Given the description of an element on the screen output the (x, y) to click on. 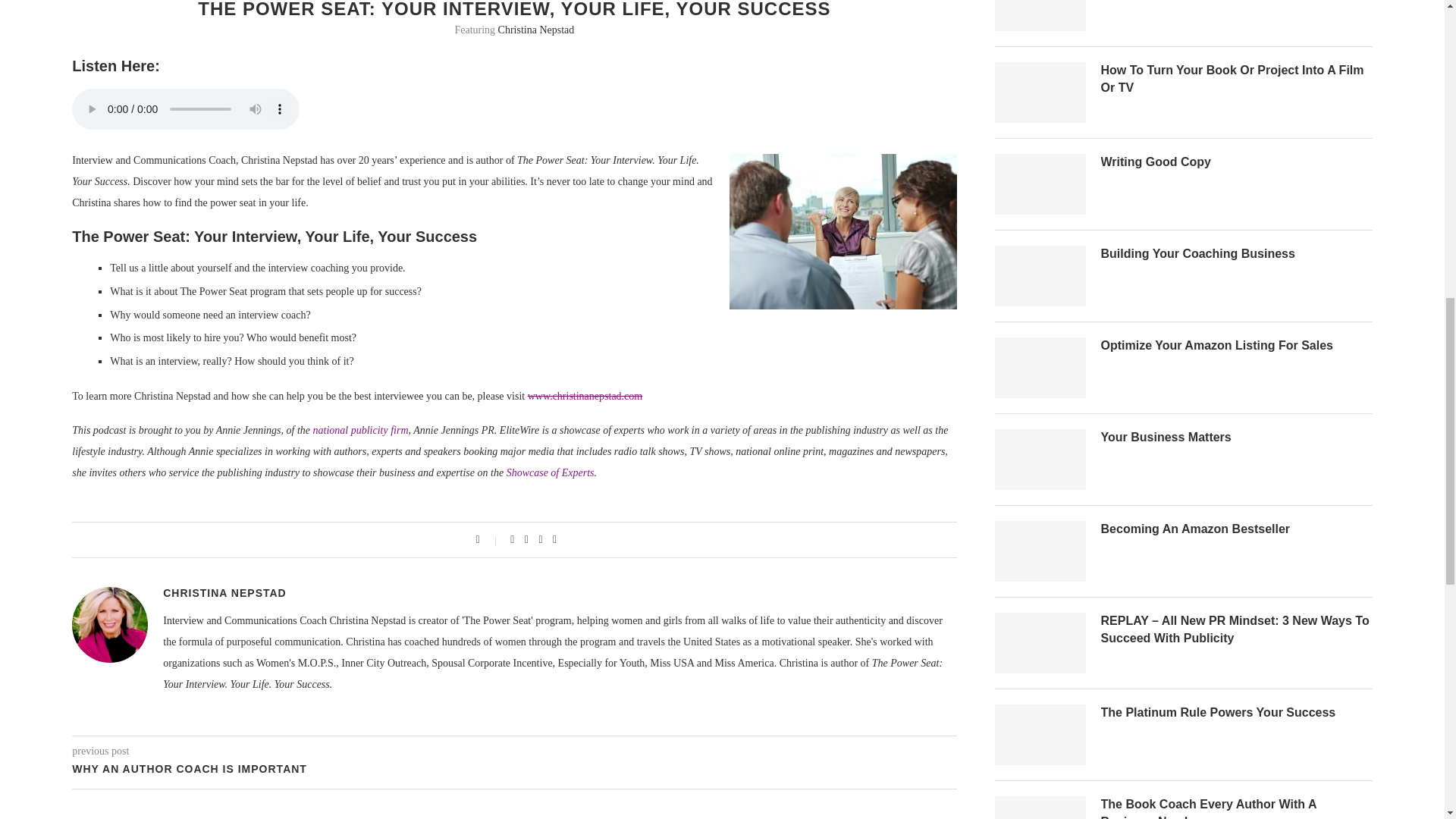
Posts by Christina Nepstad (224, 592)
Like (488, 539)
